Given the description of an element on the screen output the (x, y) to click on. 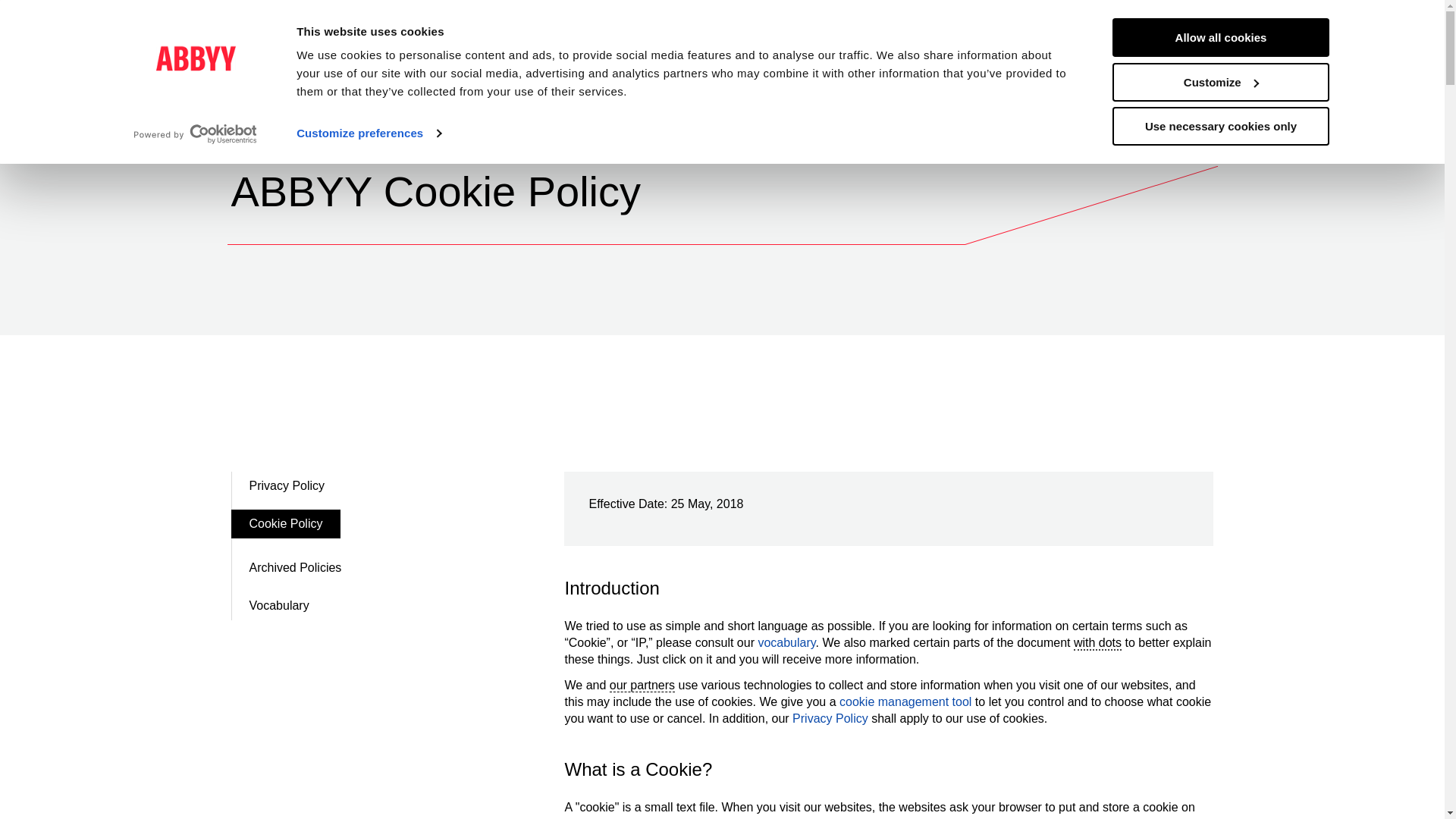
Customize preferences (369, 133)
